Given the description of an element on the screen output the (x, y) to click on. 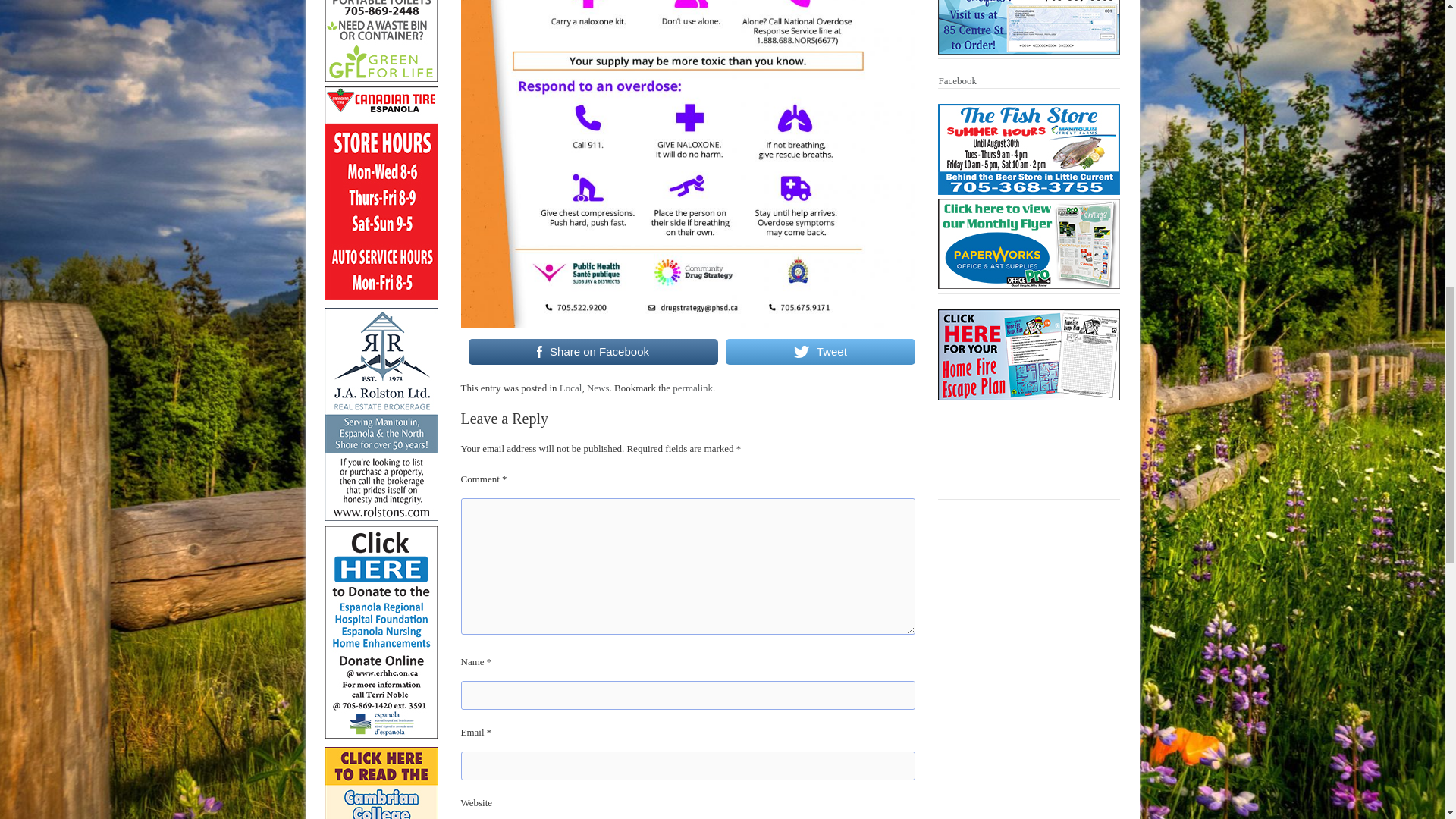
permalink (692, 387)
Local (570, 387)
Share on Facebook (592, 351)
Tweet (820, 351)
News (598, 387)
